Given the description of an element on the screen output the (x, y) to click on. 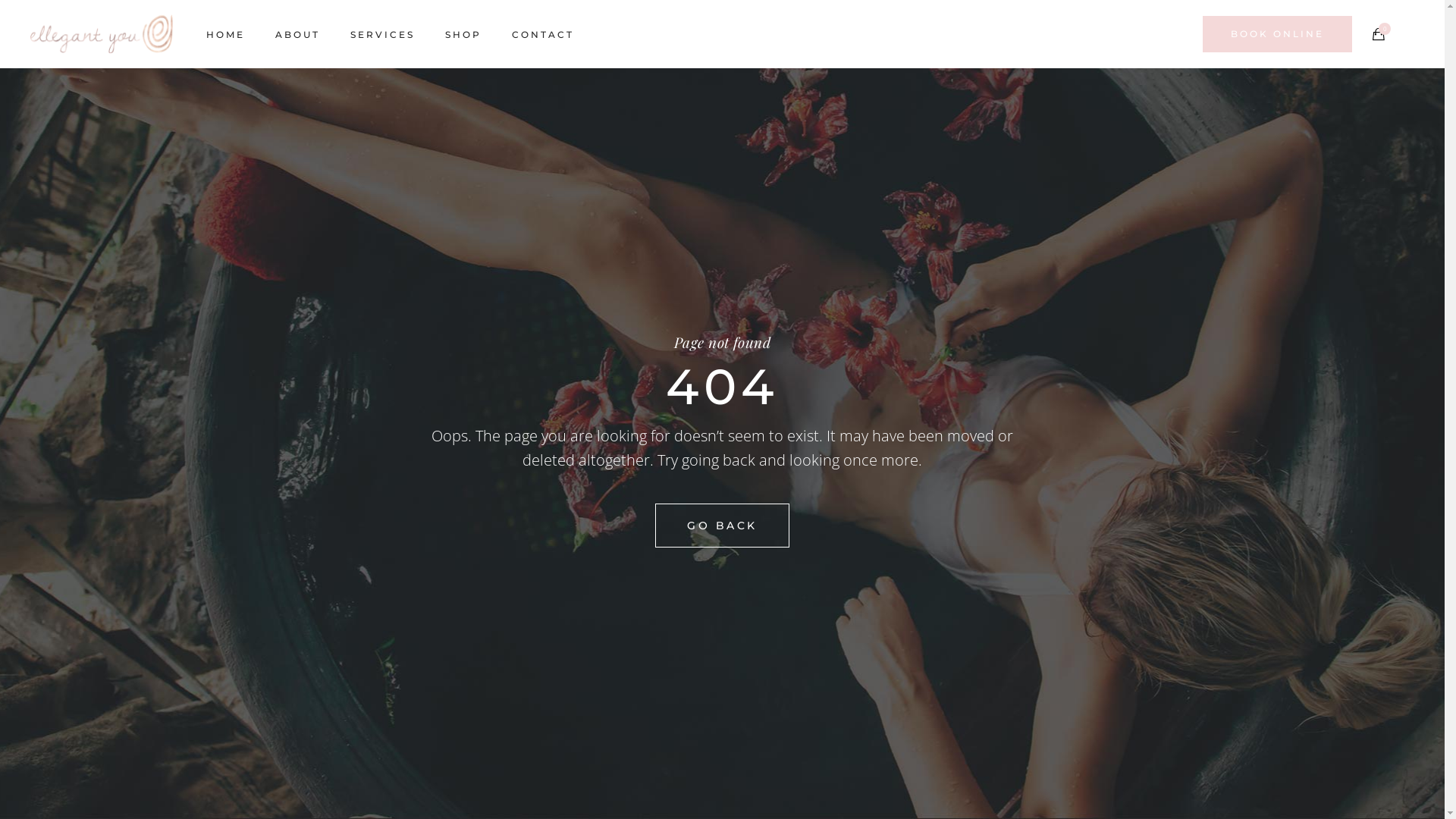
CONTACT Element type: text (542, 34)
GO BACK Element type: text (722, 525)
HOME Element type: text (225, 34)
SHOP Element type: text (462, 34)
0 Element type: text (1378, 34)
SERVICES Element type: text (382, 34)
BOOK ONLINE Element type: text (1277, 33)
ABOUT Element type: text (297, 34)
